Given the description of an element on the screen output the (x, y) to click on. 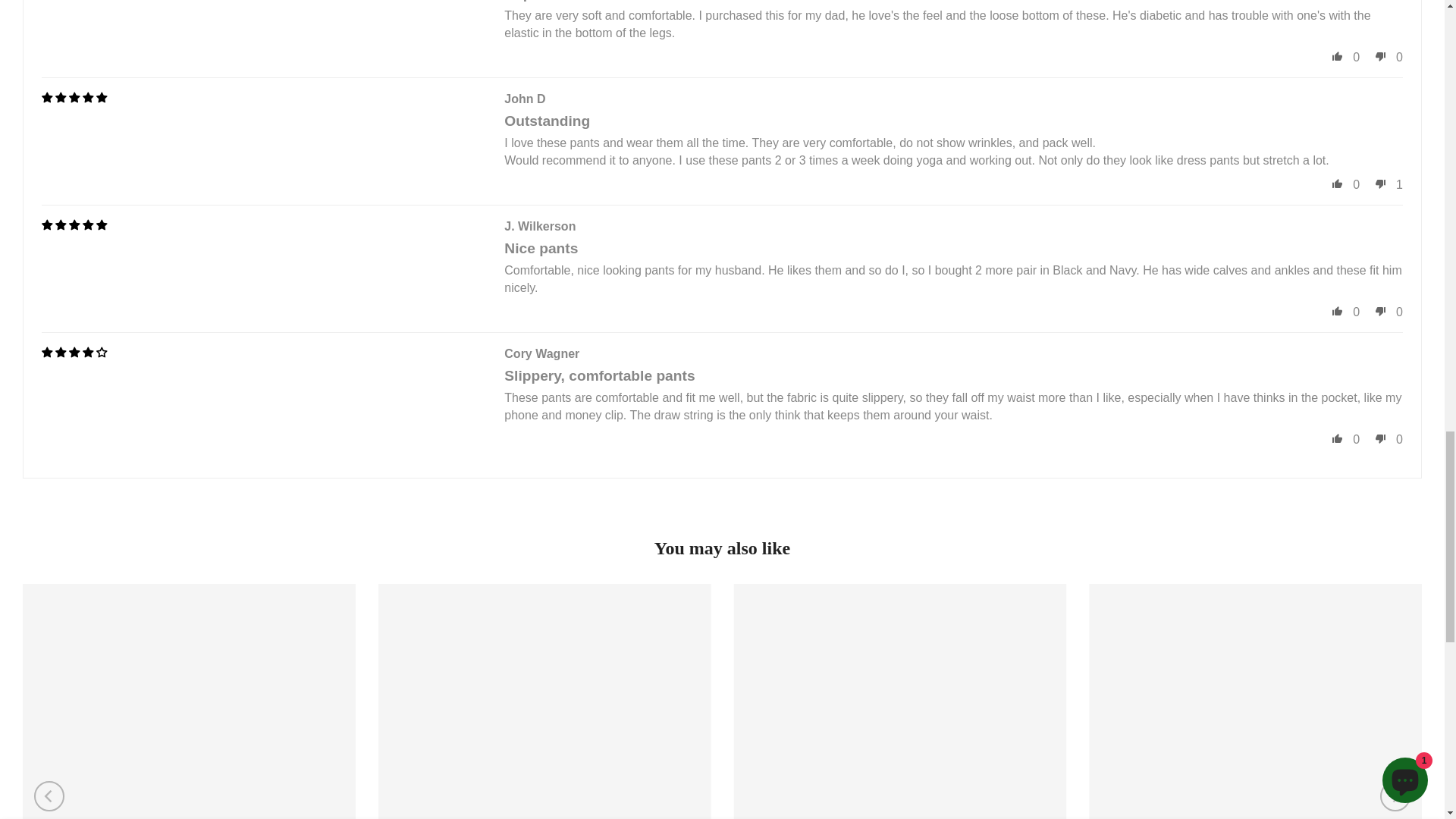
up (1336, 310)
down (1380, 56)
down (1380, 310)
up (1336, 56)
up (1336, 437)
down (1380, 437)
down (1380, 182)
up (1336, 182)
